Given the description of an element on the screen output the (x, y) to click on. 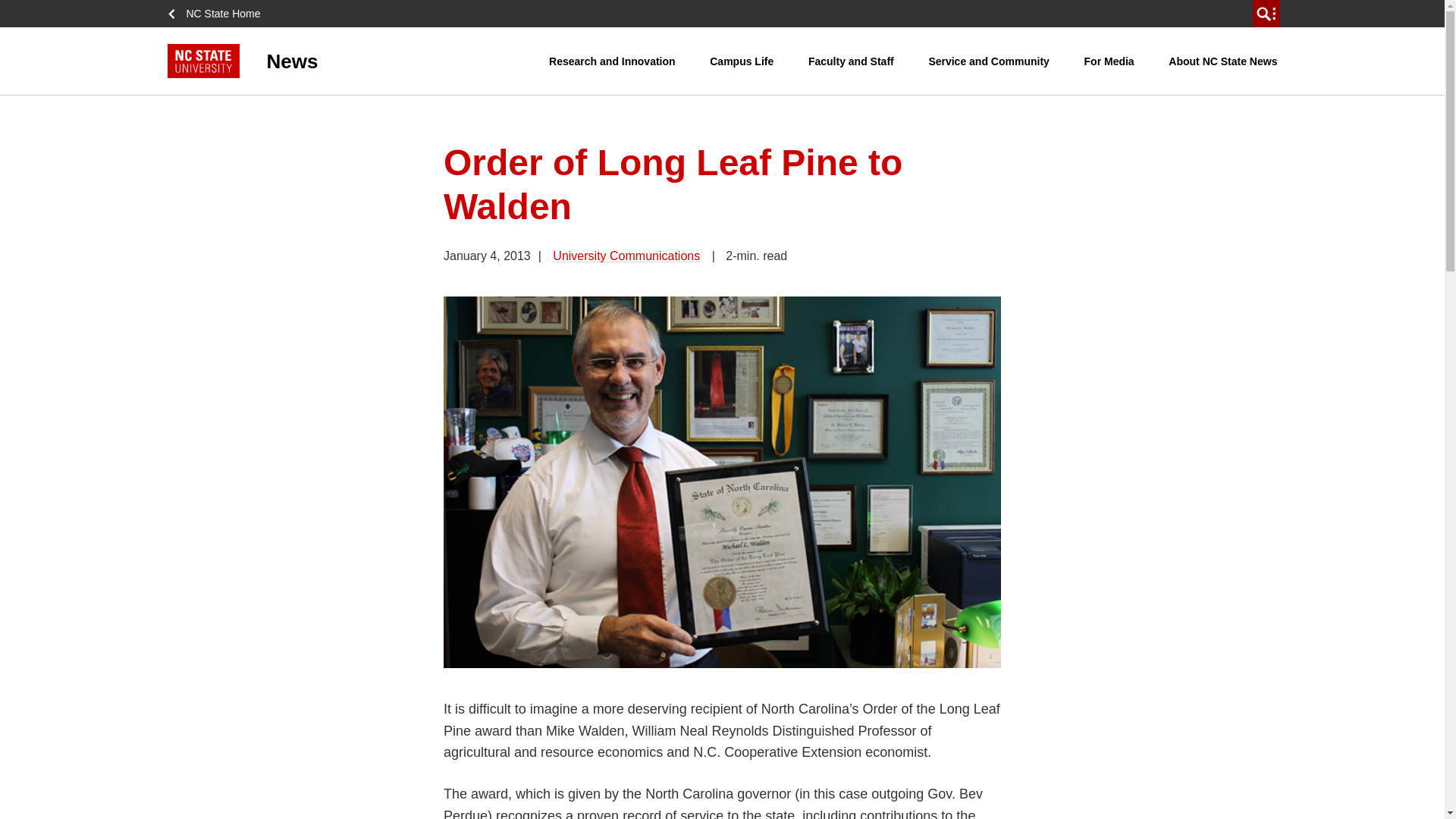
News (357, 61)
Service and Community (989, 61)
Posts by University Communications (625, 255)
Research and Innovation (611, 61)
Faculty and Staff (851, 61)
Campus Life (741, 61)
NC State Home (217, 13)
